Given the description of an element on the screen output the (x, y) to click on. 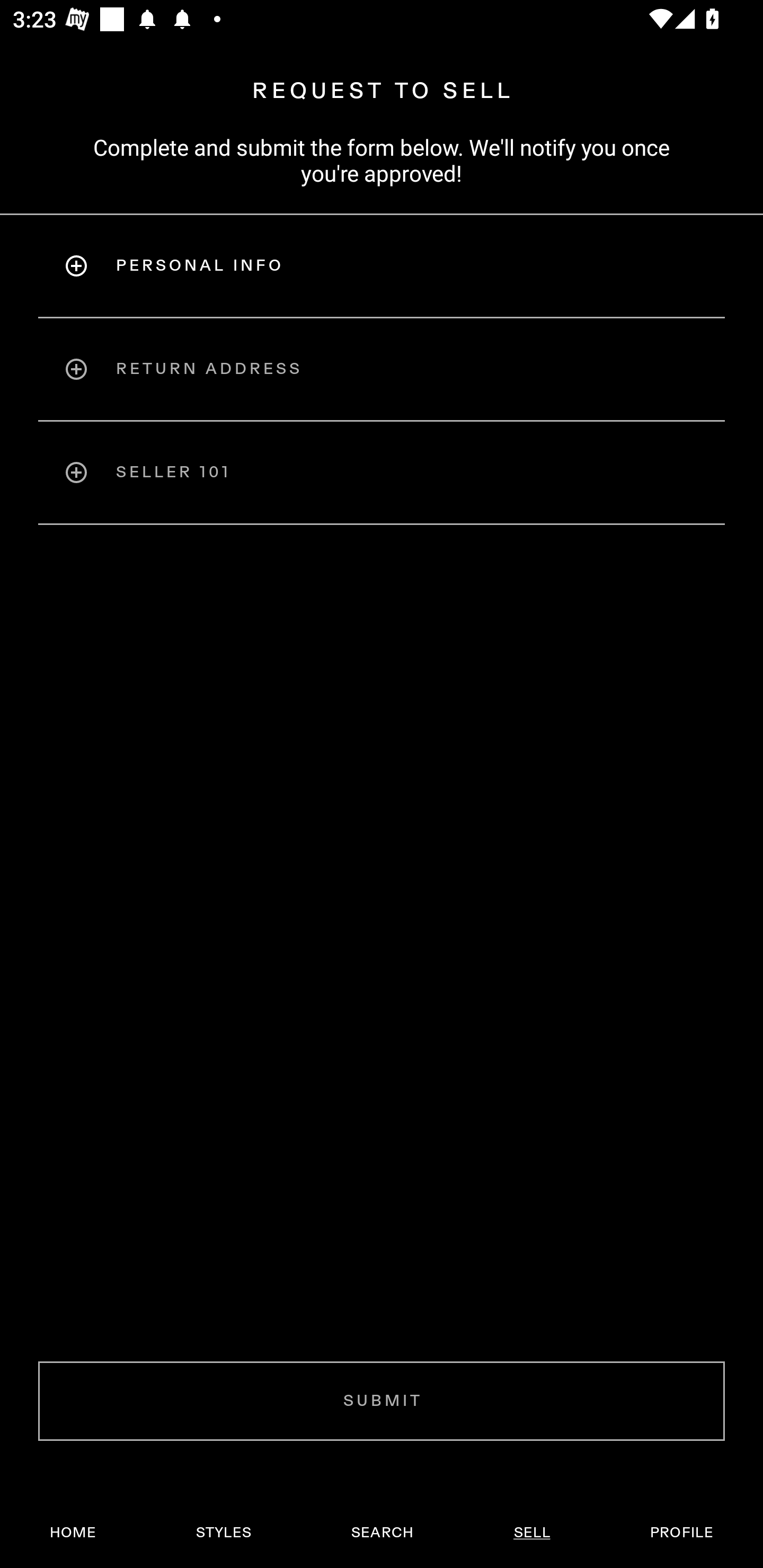
PERSONAL INFO (381, 265)
RETURN ADDRESS (381, 369)
SELLER 101 (381, 472)
SUBMIT (381, 1400)
HOME (72, 1532)
STYLES (222, 1532)
SEARCH (381, 1532)
SELL (531, 1532)
PROFILE (681, 1532)
